Given the description of an element on the screen output the (x, y) to click on. 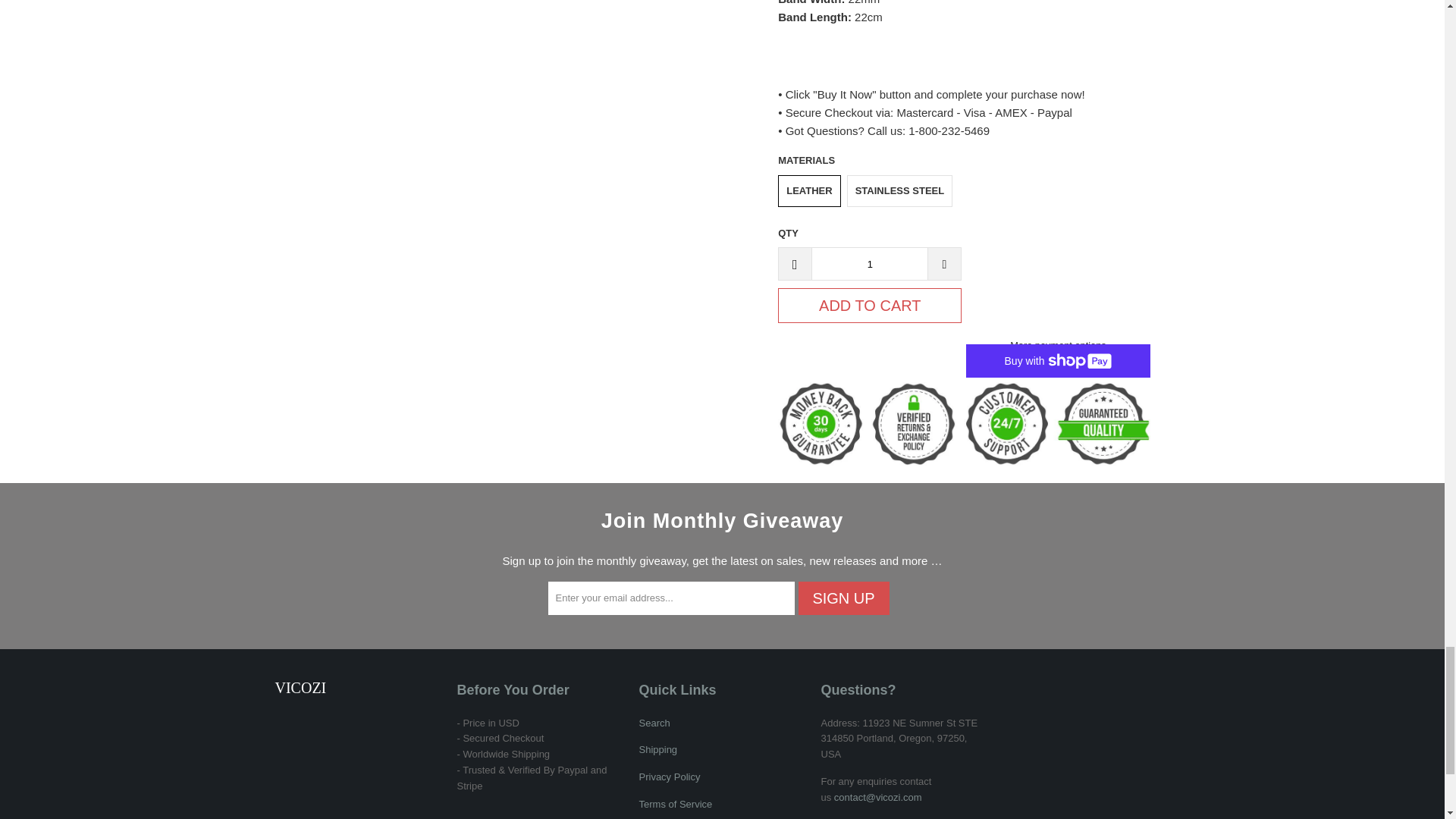
1 (869, 263)
Contact Us (877, 797)
Sign Up (842, 598)
